Given the description of an element on the screen output the (x, y) to click on. 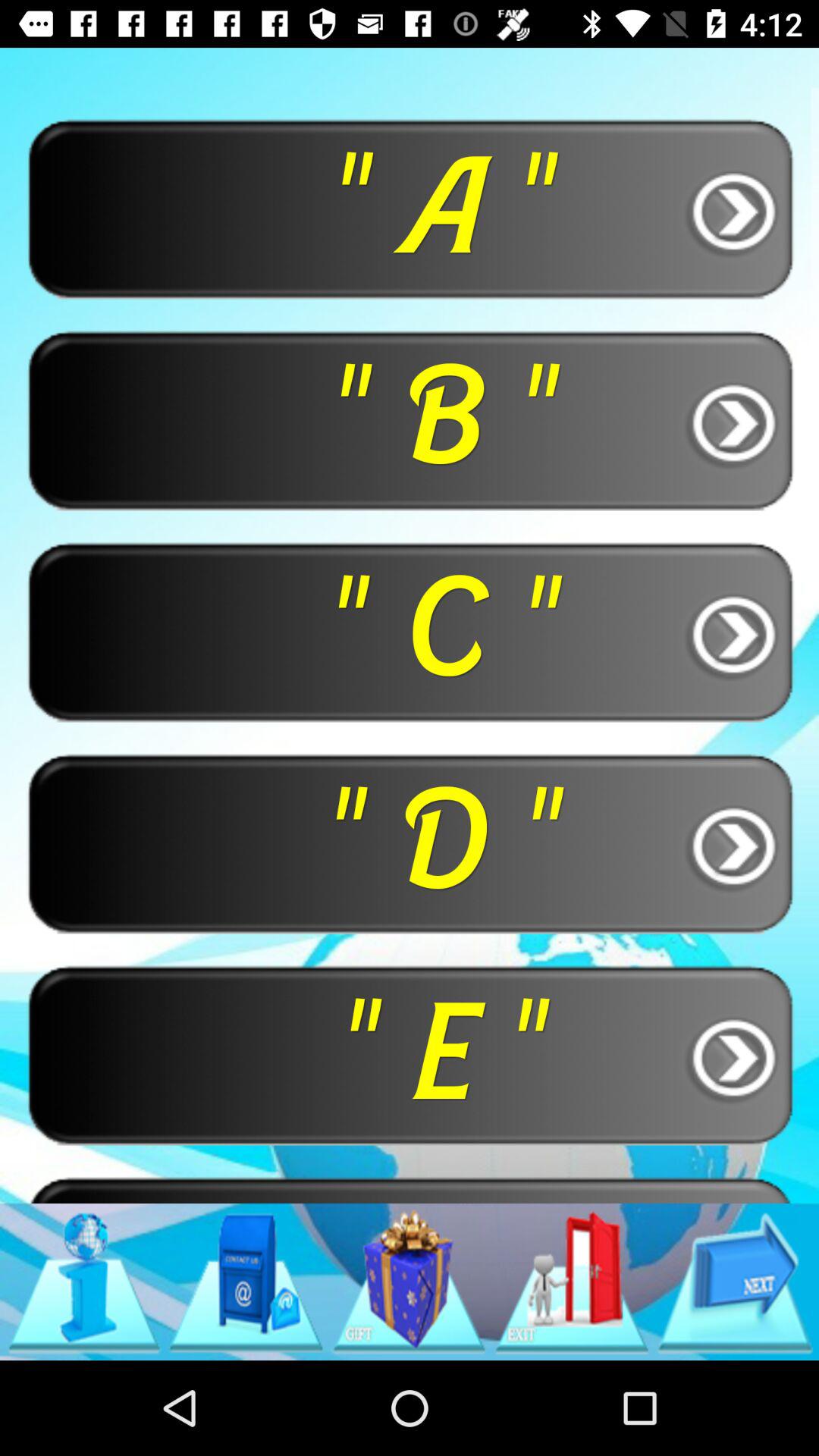
jump until the   " f " icon (409, 1189)
